Given the description of an element on the screen output the (x, y) to click on. 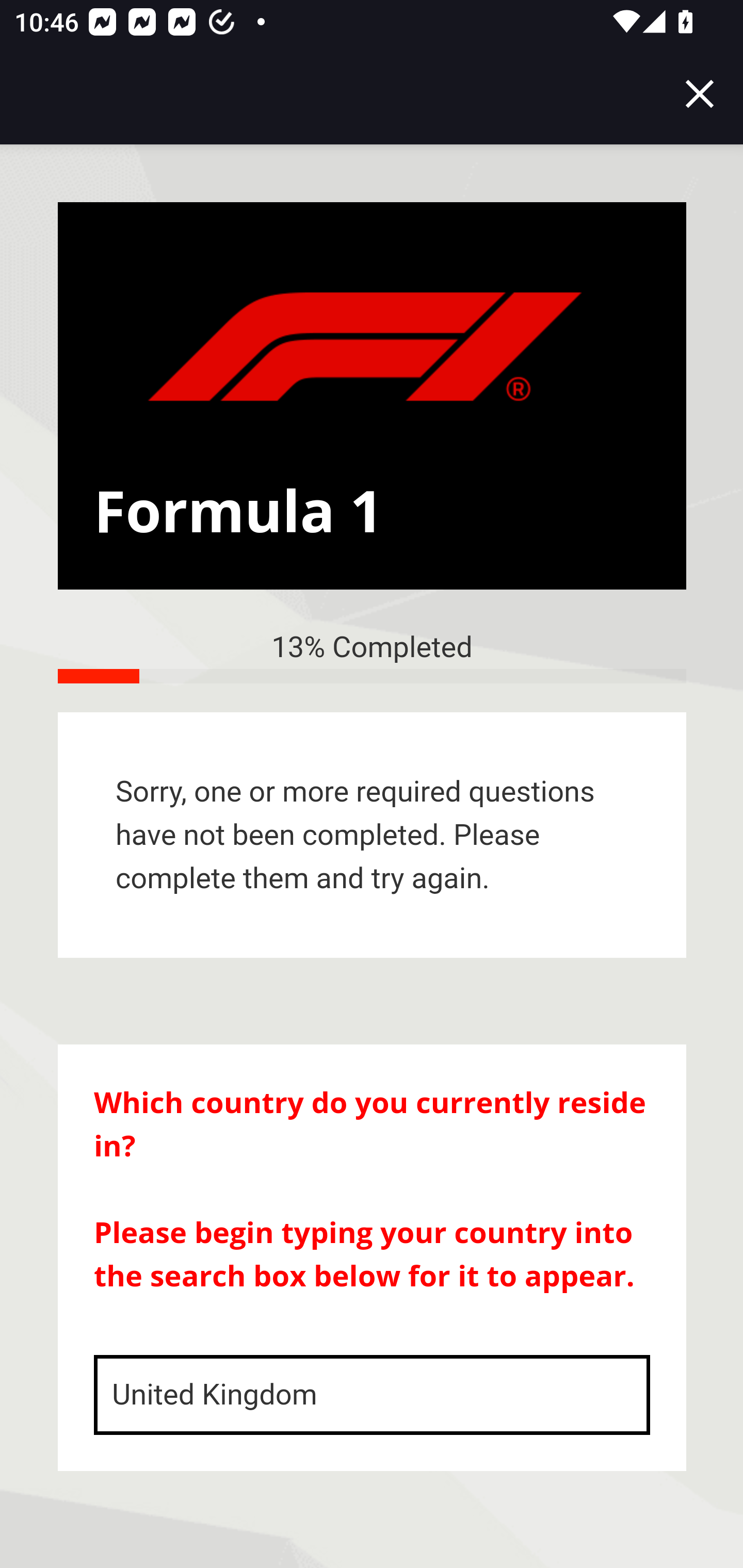
Close (699, 93)
United Kingdom (372, 1394)
